Given the description of an element on the screen output the (x, y) to click on. 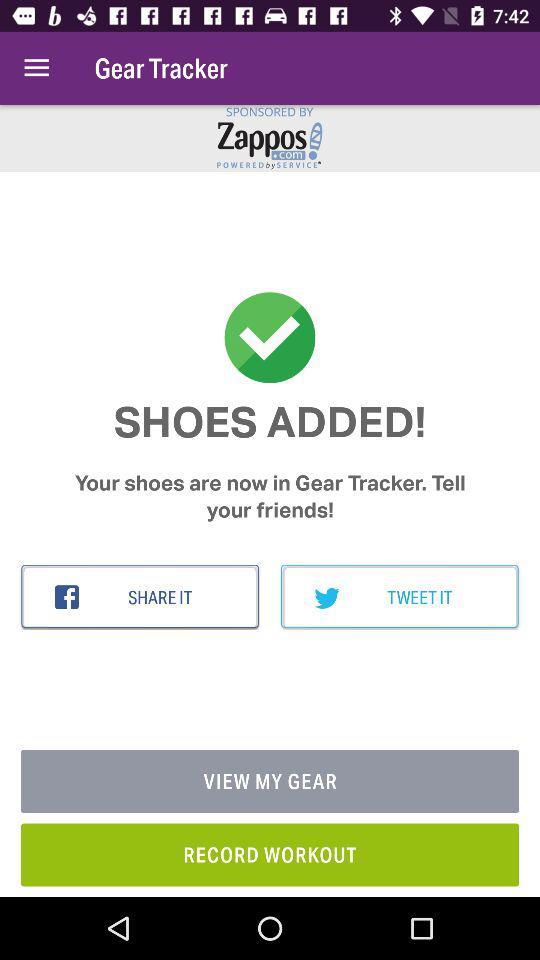
turn off item next to the gear tracker item (36, 68)
